Given the description of an element on the screen output the (x, y) to click on. 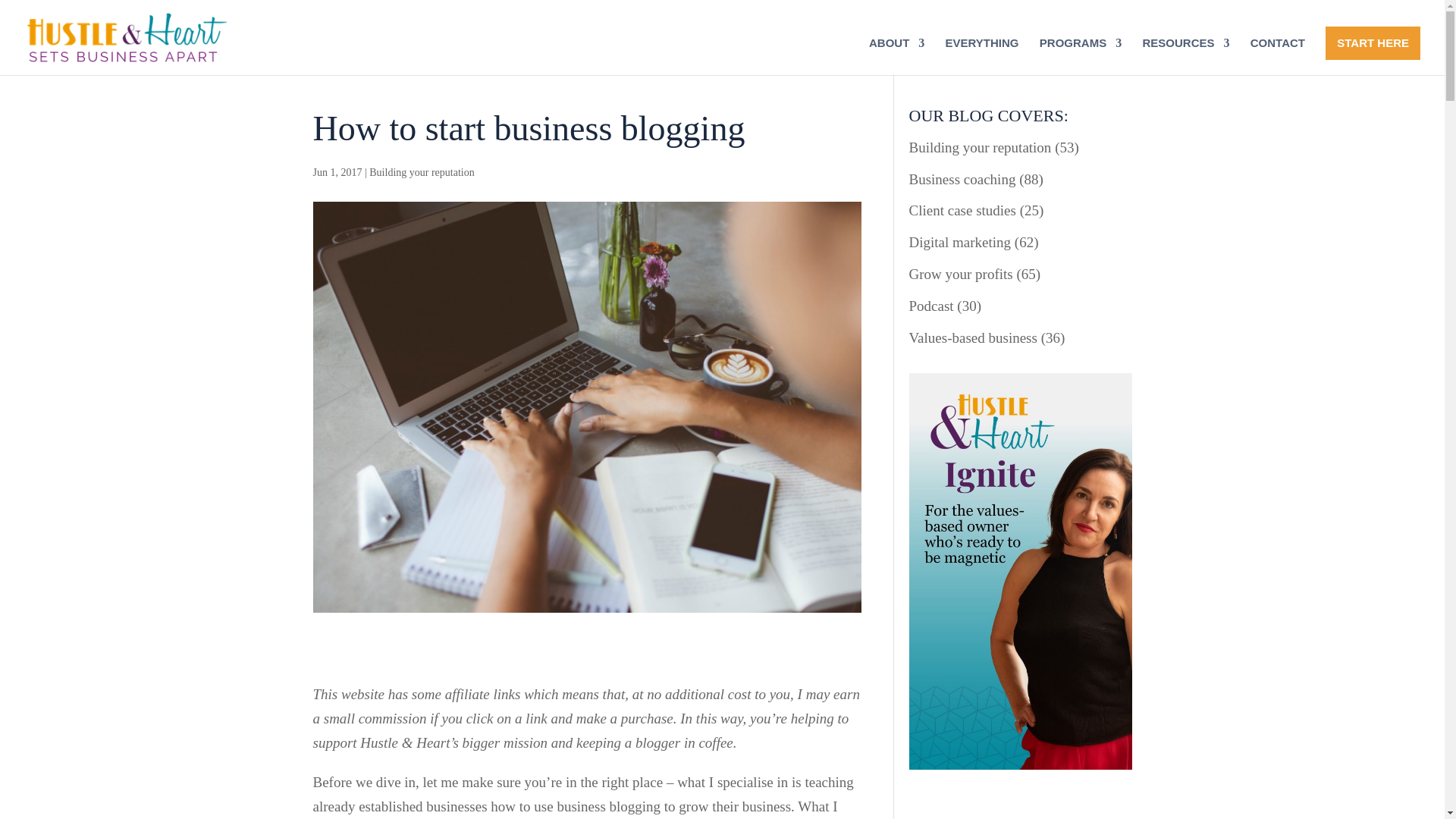
PROGRAMS (1080, 56)
START HERE (1372, 42)
EVERYTHING (981, 56)
CONTACT (1277, 56)
ABOUT (896, 56)
RESOURCES (1184, 56)
Building your reputation (421, 172)
